Given the description of an element on the screen output the (x, y) to click on. 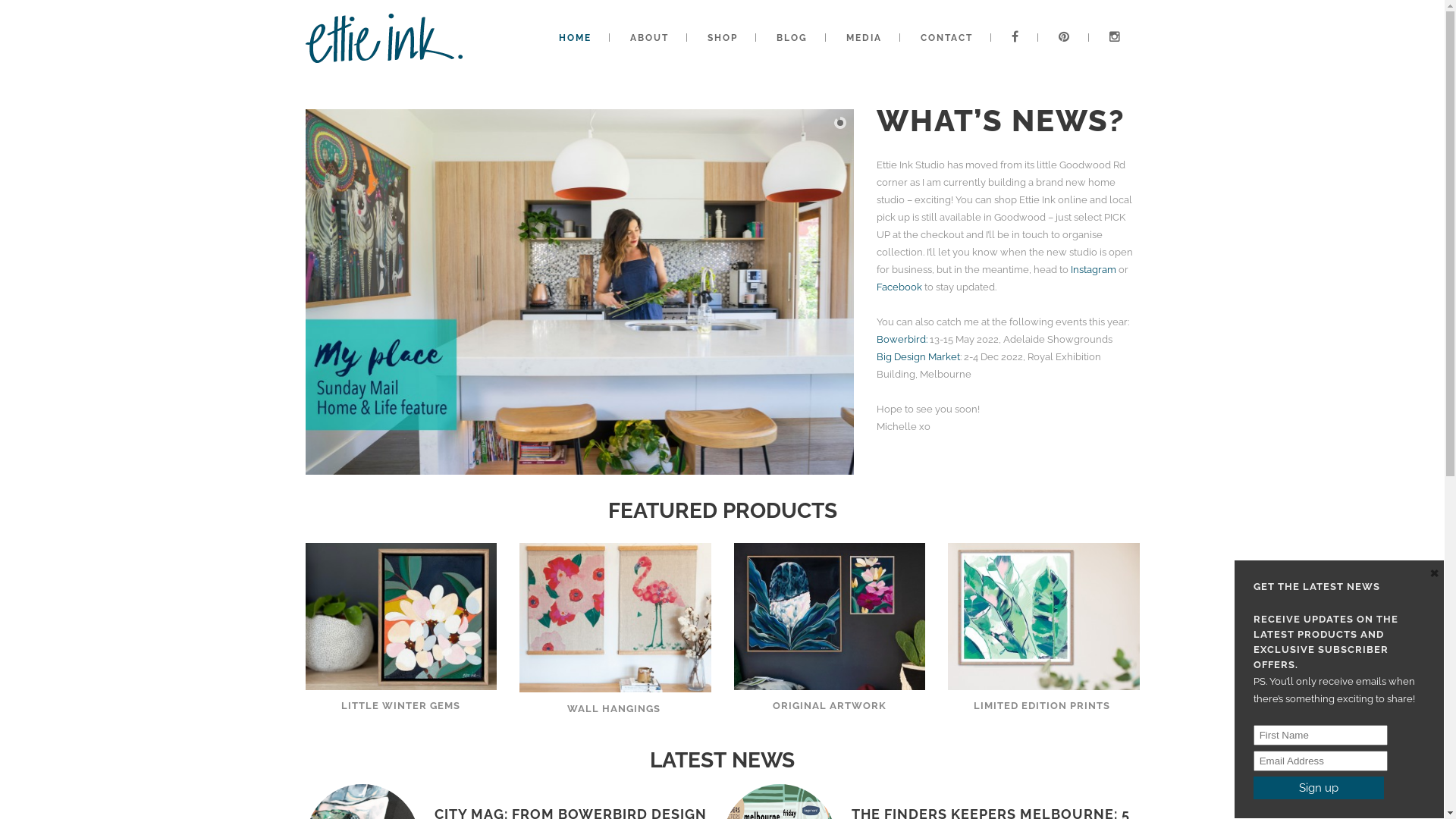
WALL HANGINGS  Element type: text (615, 708)
LITTLE WINTER GEMS Element type: text (400, 705)
MEDIA Element type: text (864, 37)
Big Design Market Element type: text (918, 356)
Facebook Element type: text (899, 286)
BLOG Element type: text (791, 37)
ORIGINAL ARTWORK Element type: text (829, 705)
ABOUT Element type: text (648, 37)
Bowerbird: Element type: text (901, 339)
HOME Element type: text (573, 37)
CONTACT Element type: text (946, 37)
Instagram Element type: text (1093, 269)
SHOP Element type: text (721, 37)
Sign up Element type: text (1318, 787)
LIMITED EDITION PRINTS  Element type: text (1043, 705)
